Given the description of an element on the screen output the (x, y) to click on. 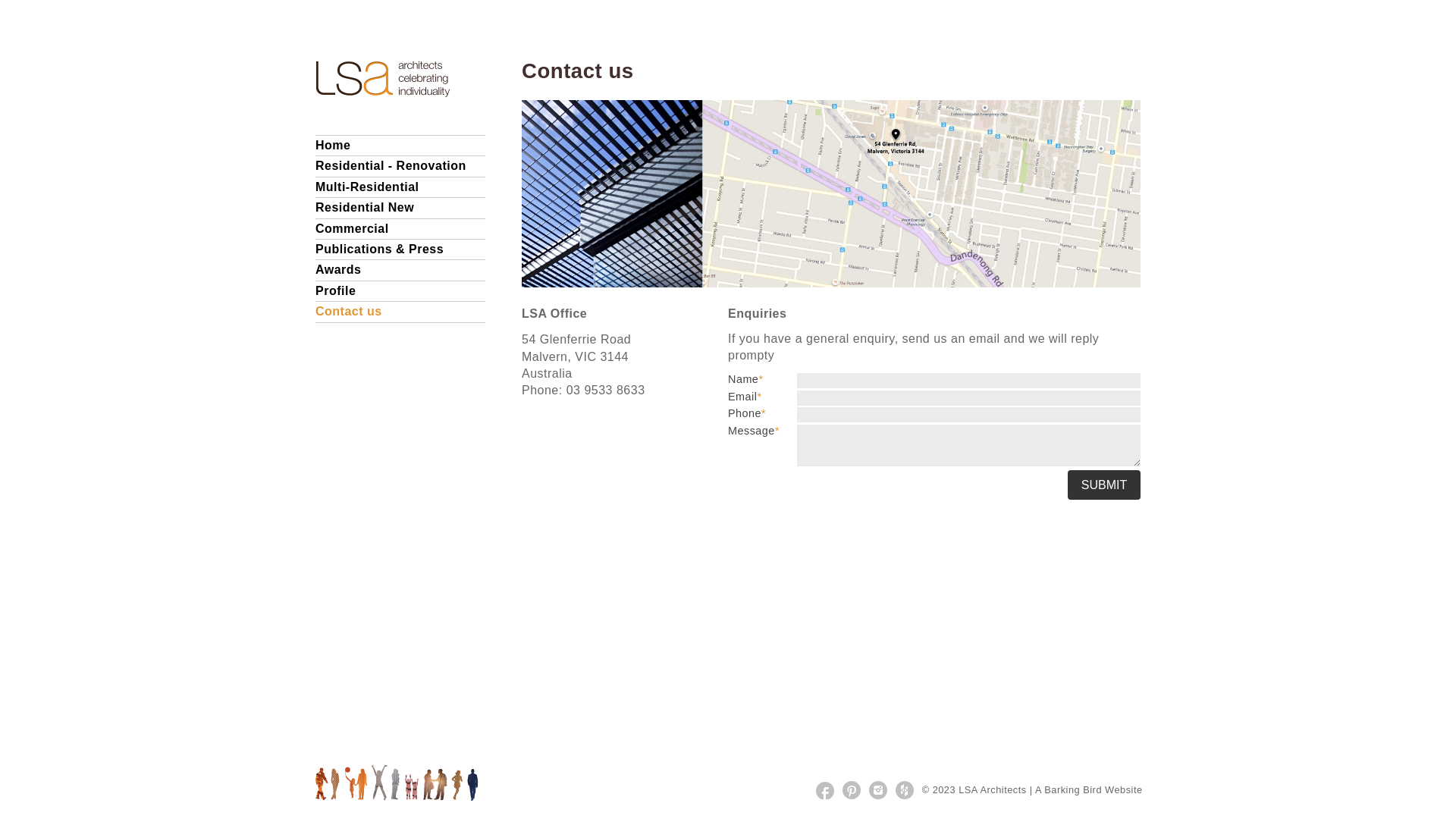
Home Element type: text (332, 144)
Email Element type: hover (968, 397)
Contact us Element type: text (348, 310)
Awards Element type: text (338, 269)
First Name Element type: hover (968, 380)
Message Element type: hover (968, 445)
Phone Element type: hover (968, 414)
| A Barking Bird Website Element type: text (1089, 789)
Publications & Press Element type: text (379, 248)
